Given the description of an element on the screen output the (x, y) to click on. 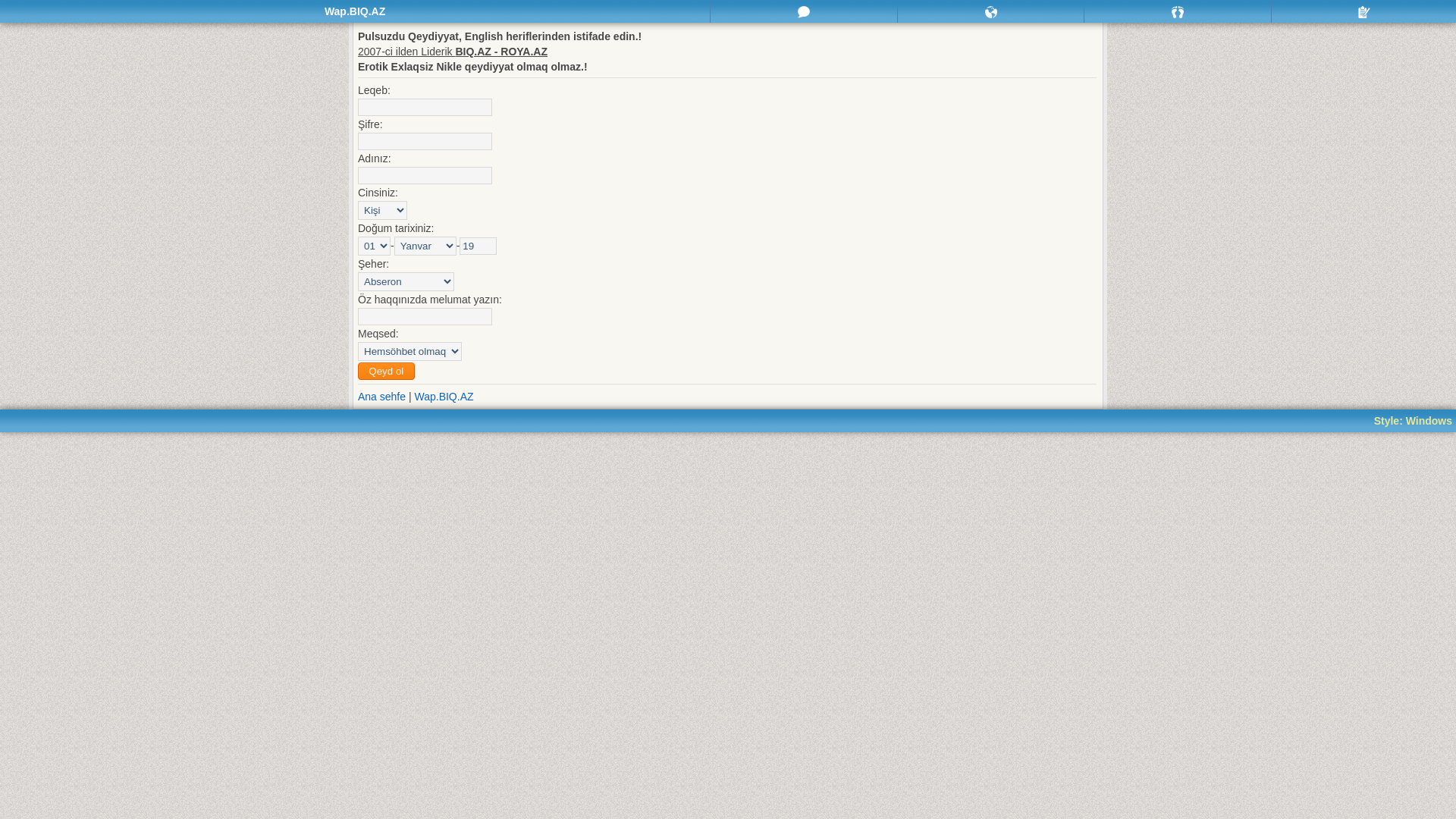
Style: Windows Element type: text (1413, 420)
Mesajlar Element type: hover (803, 11)
Leqebiniz (Nick) Element type: hover (424, 107)
Ana sehfe Element type: text (381, 396)
Bildirisler Element type: hover (990, 11)
Wap.BIQ.AZ Element type: text (443, 396)
Qeyd ol Element type: text (385, 370)
Qonaqlar Element type: hover (1177, 11)
